Given the description of an element on the screen output the (x, y) to click on. 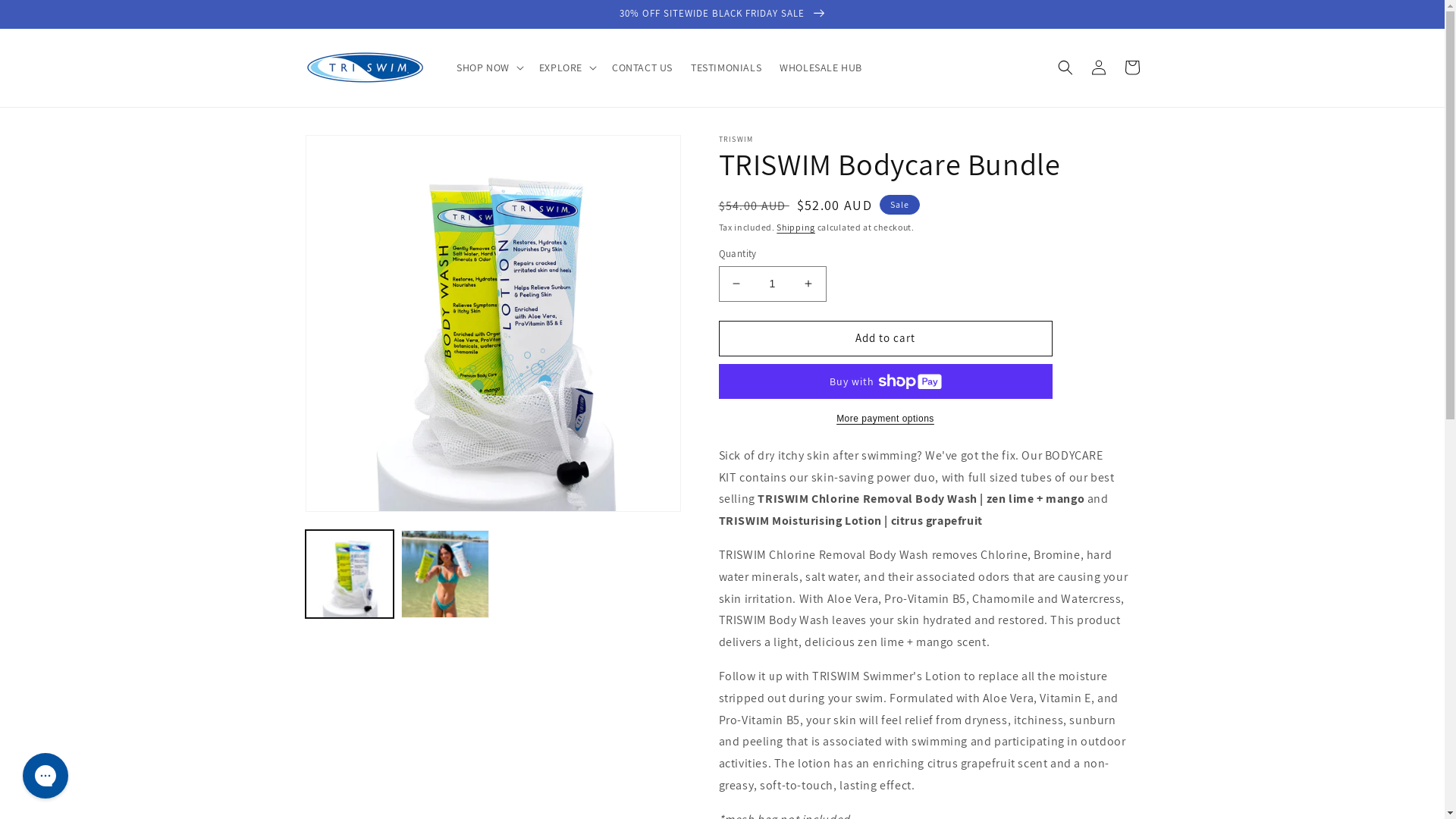
Increase quantity for TRISWIM Bodycare Bundle Element type: text (808, 283)
Gorgias live chat messenger Element type: hover (45, 775)
Shipping Element type: text (795, 226)
Add to cart Element type: text (885, 338)
30% OFF SITEWIDE BLACK FRIDAY SALE Element type: text (722, 14)
CONTACT US Element type: text (641, 67)
Skip to product information Element type: text (350, 151)
Decrease quantity for TRISWIM Bodycare Bundle Element type: text (735, 283)
More payment options Element type: text (885, 418)
Cart Element type: text (1131, 67)
WHOLESALE HUB Element type: text (820, 67)
Log in Element type: text (1097, 67)
TESTIMONIALS Element type: text (725, 67)
